Given the description of an element on the screen output the (x, y) to click on. 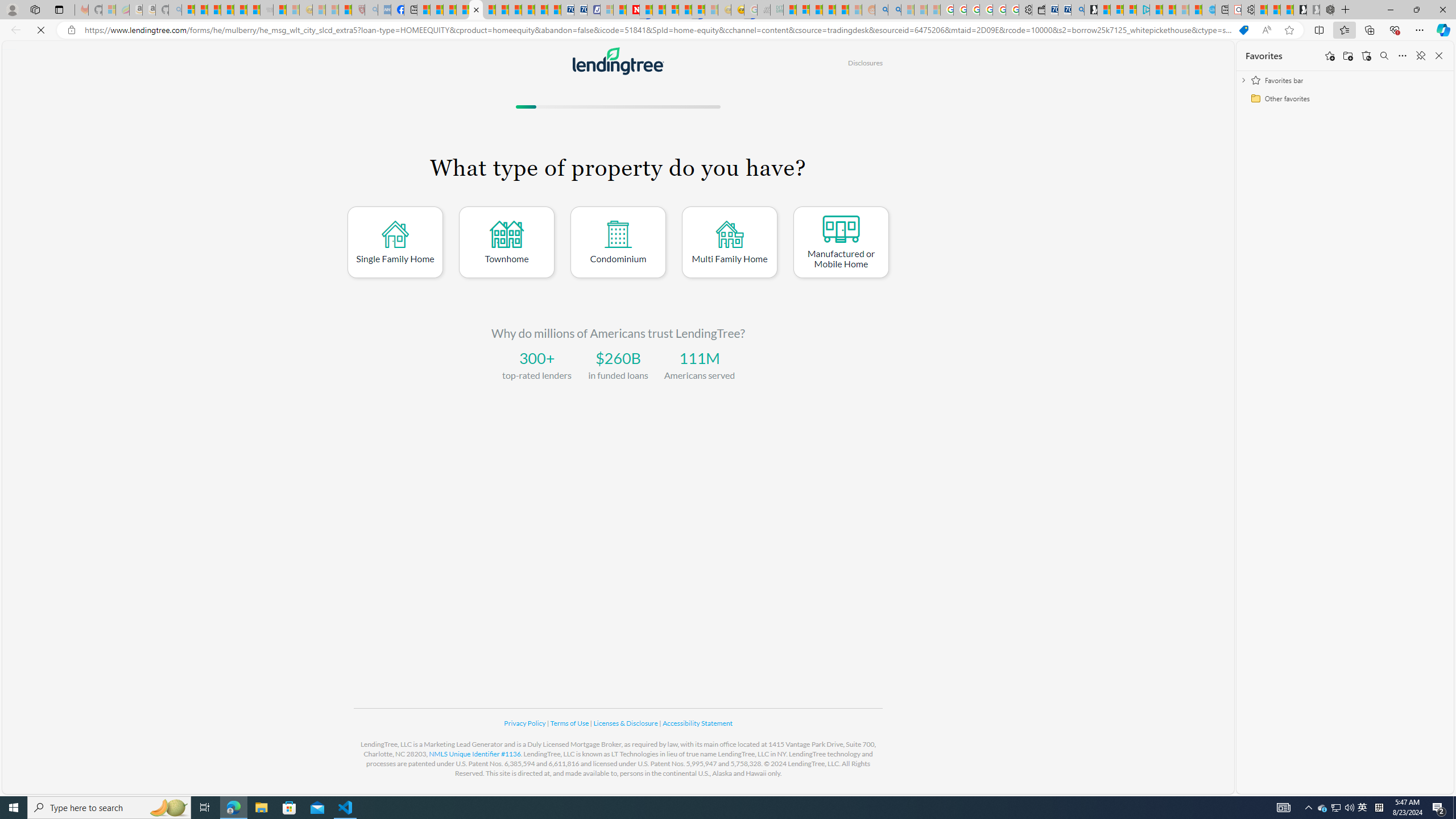
New Report Confirms 2023 Was Record Hot | Watch (239, 9)
